Given the description of an element on the screen output the (x, y) to click on. 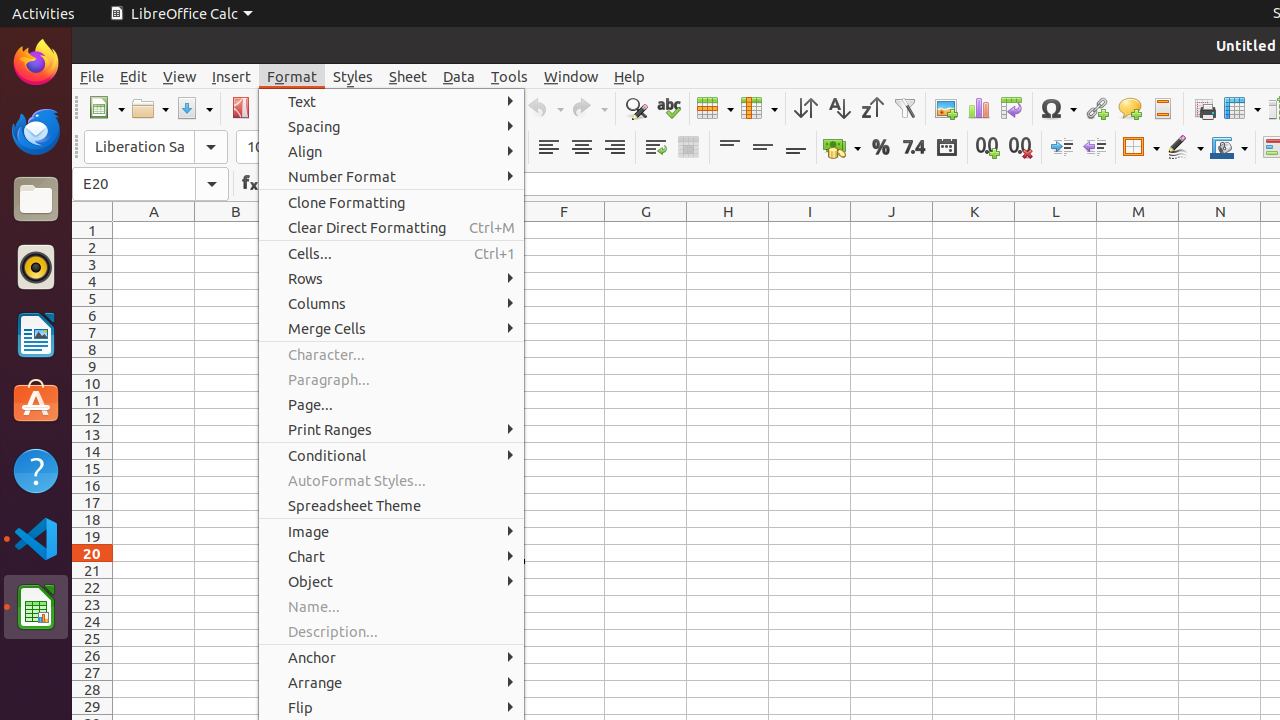
Spelling Element type: push-button (668, 108)
Text Element type: menu (391, 101)
AutoFormat Styles... Element type: menu-item (391, 480)
Edit Element type: menu (133, 76)
Arrange Element type: menu (391, 682)
